Given the description of an element on the screen output the (x, y) to click on. 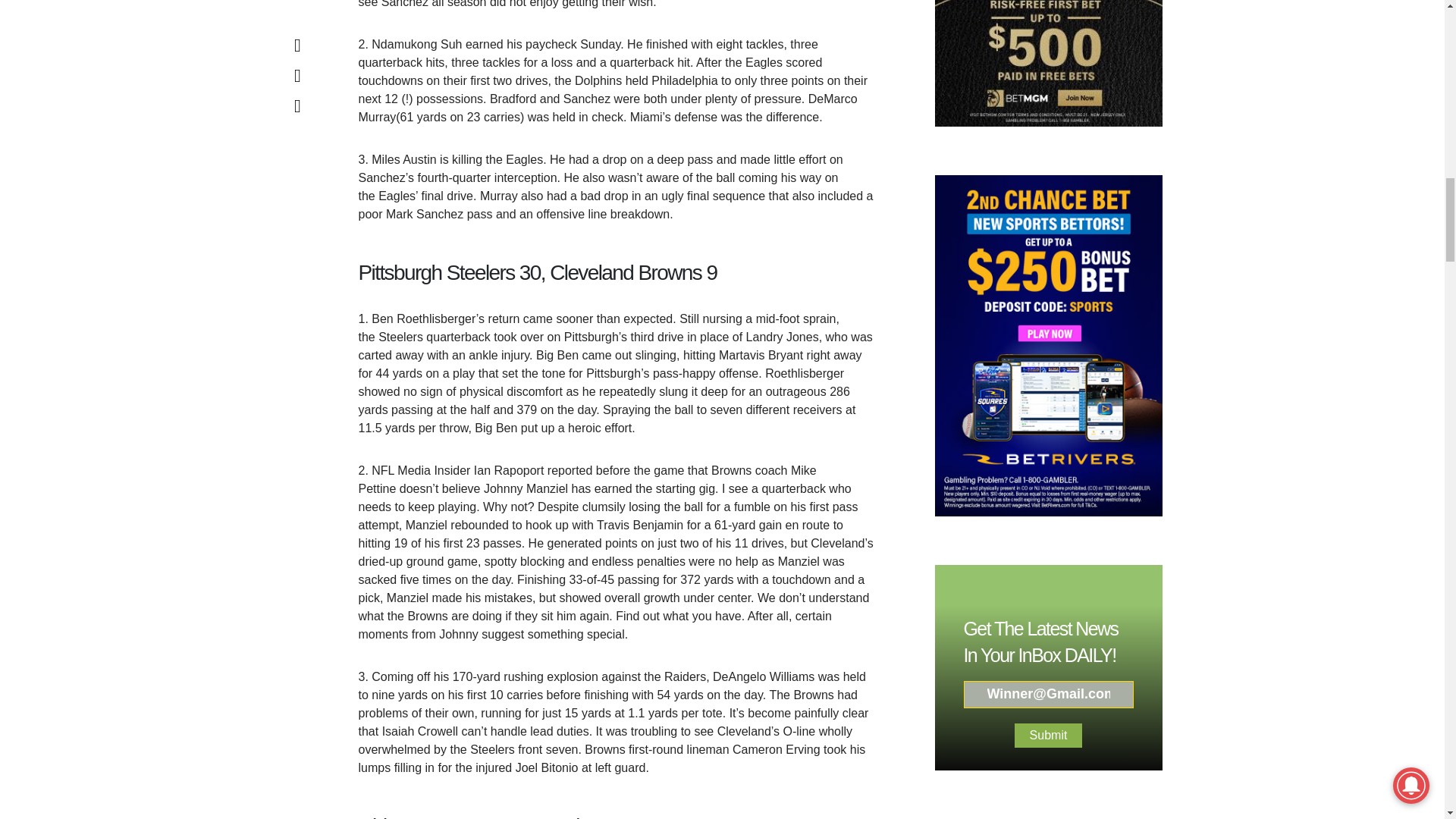
Submit (1048, 454)
